Given the description of an element on the screen output the (x, y) to click on. 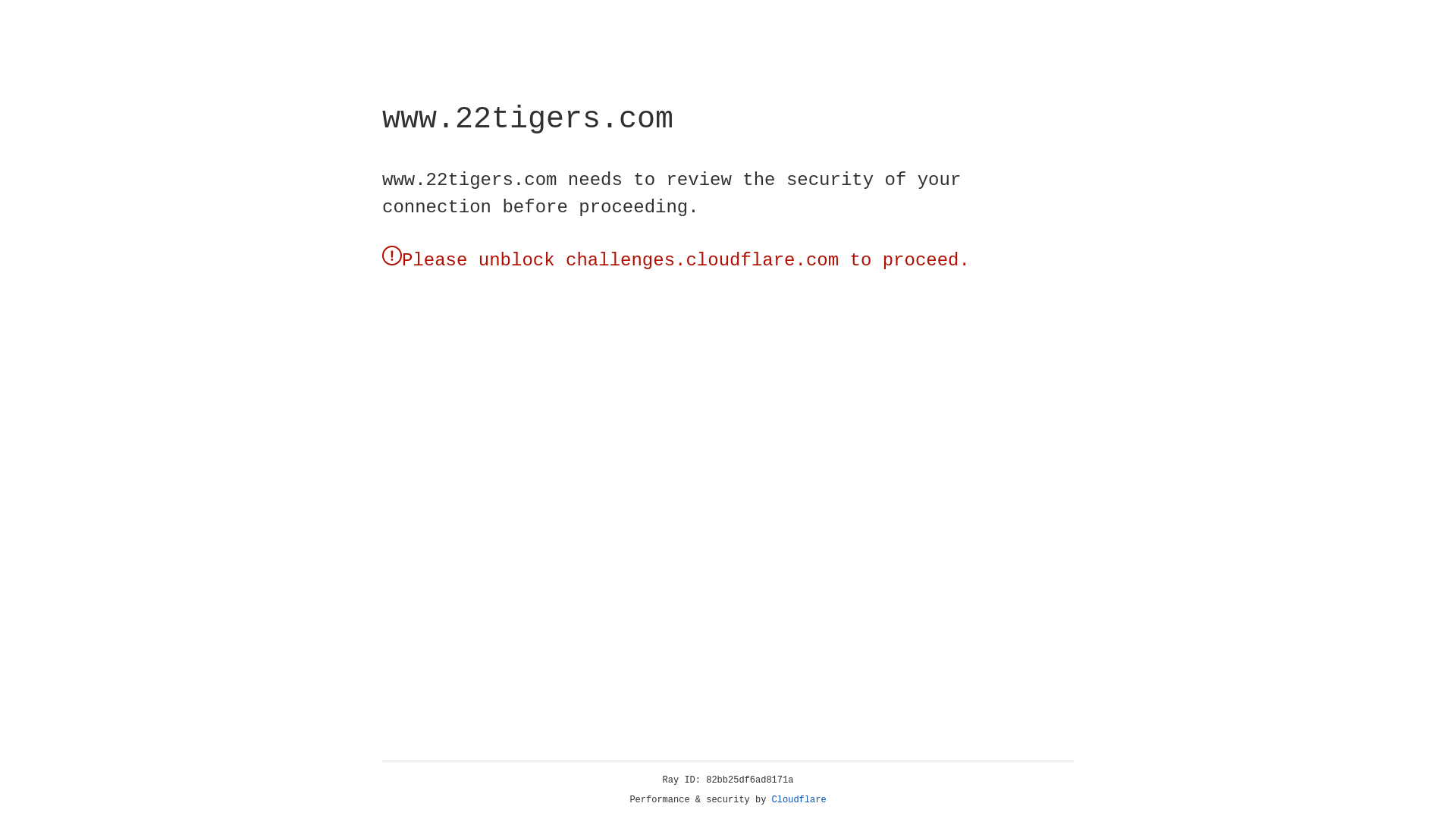
Cloudflare Element type: text (798, 799)
